Given the description of an element on the screen output the (x, y) to click on. 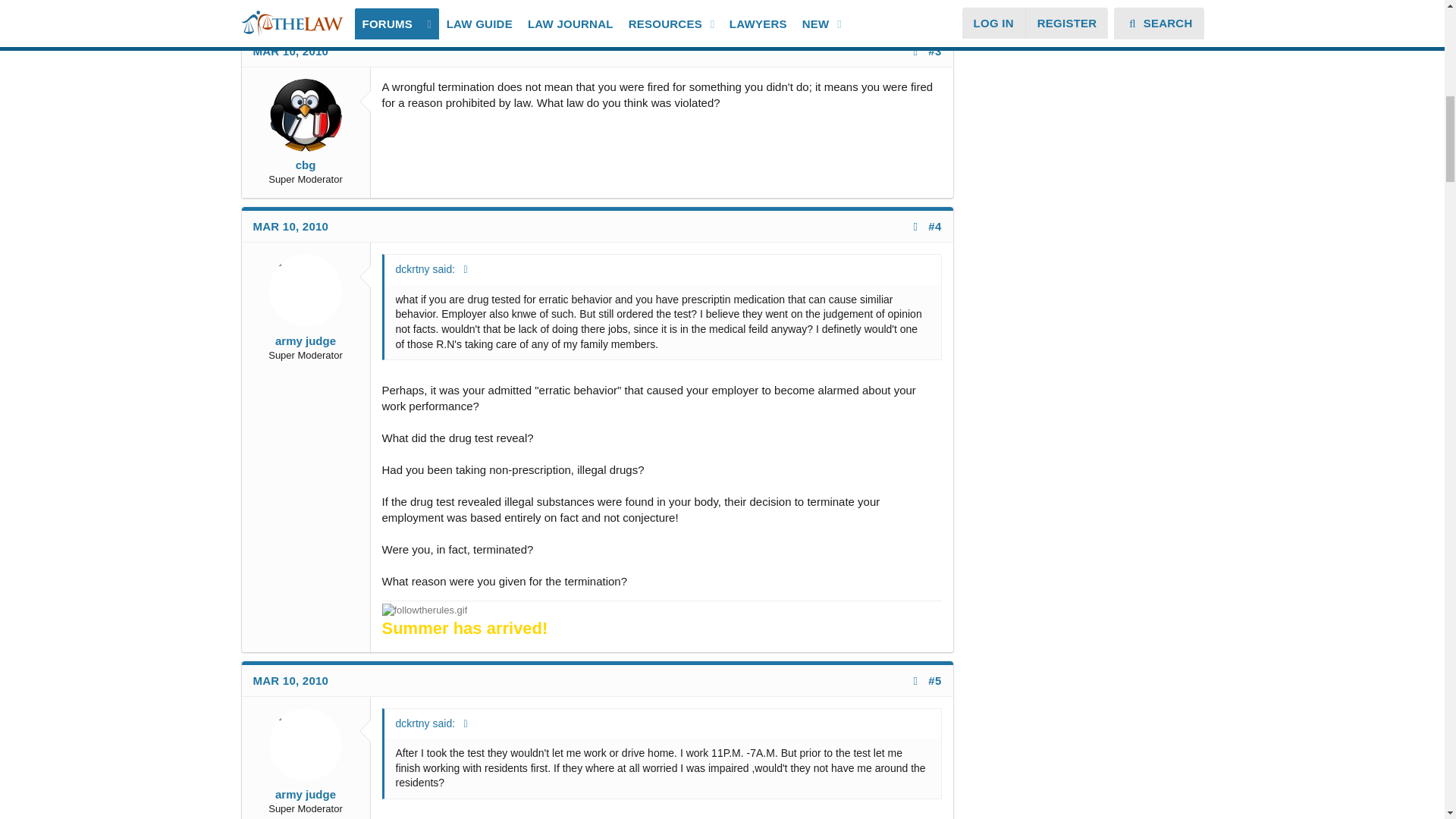
followtherules.gif (424, 610)
Mar 10, 2010 at 11:20 AM (291, 680)
Mar 10, 2010 at 11:19 AM (291, 226)
Mar 10, 2010 at 11:01 AM (291, 51)
